Given the description of an element on the screen output the (x, y) to click on. 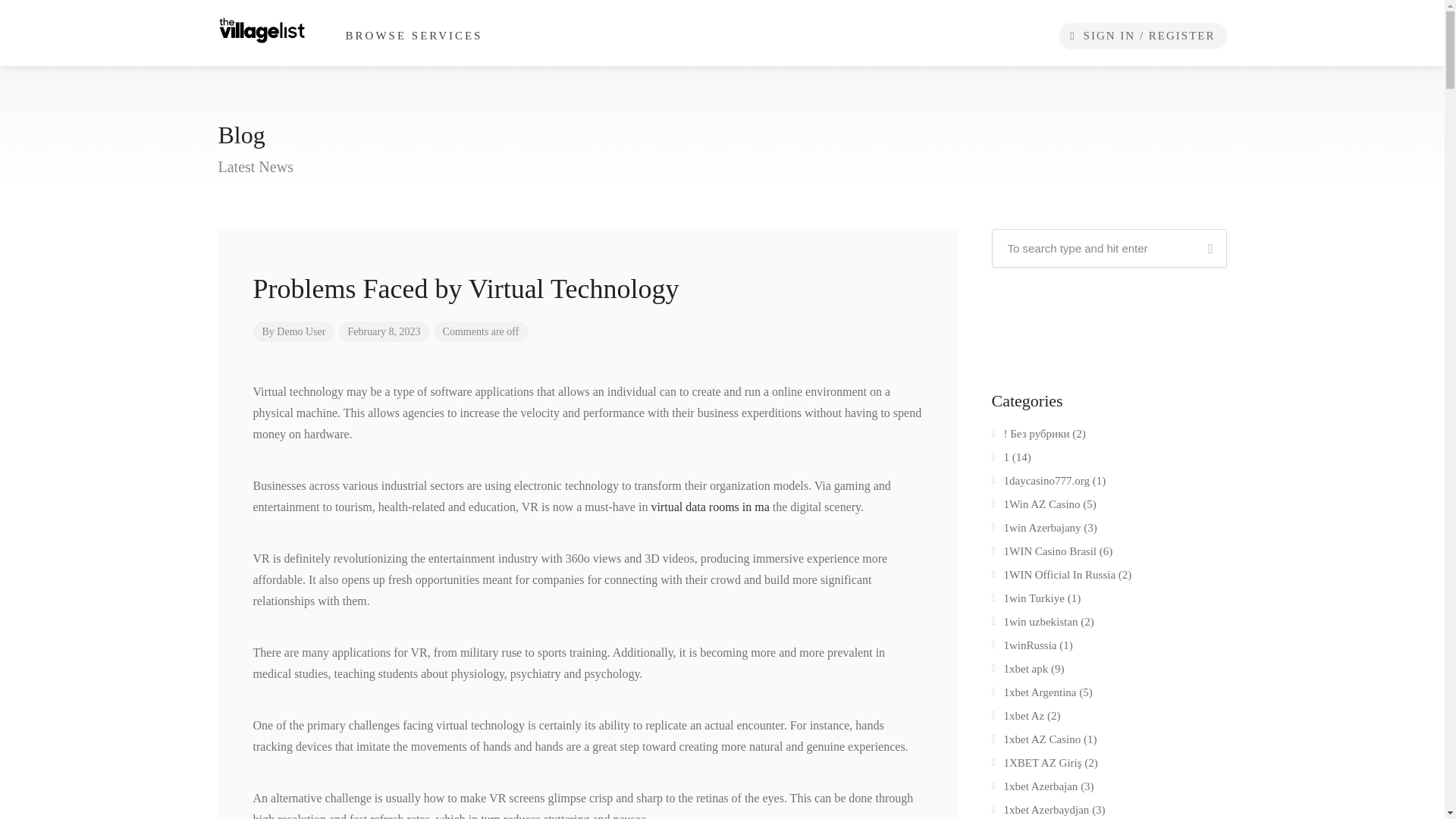
1WIN Casino Brasil (1043, 554)
1xbet Az (1018, 718)
1win uzbekistan (1034, 624)
1daycasino777.org (1040, 483)
1xbet Azerbajan (1034, 789)
1xbet apk (1019, 671)
1win Azerbajany (1036, 530)
1WIN Official In Russia (1053, 577)
virtual data rooms in ma (709, 506)
1xbet AZ Casino (1036, 742)
Demo User (300, 331)
1Win AZ Casino (1035, 506)
BROWSE SERVICES (414, 36)
1winRussia (1024, 648)
1xbet Argentina (1034, 694)
